Given the description of an element on the screen output the (x, y) to click on. 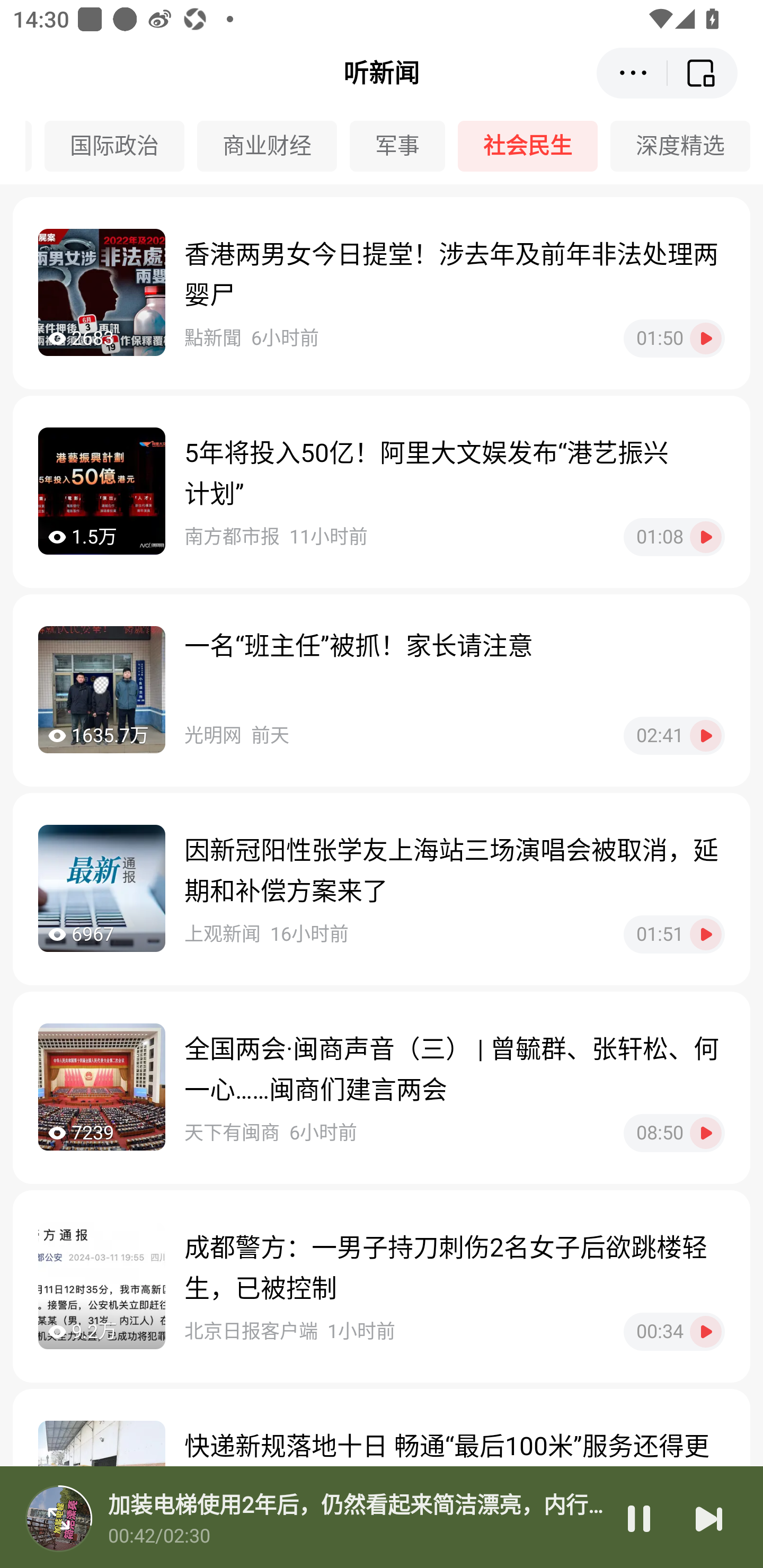
更多 (631, 72)
返回 (702, 72)
国际政治 (120, 146)
商业财经 (272, 146)
军事 (403, 146)
社会民生 (533, 146)
深度精选 (686, 146)
2683 香港两男女今日提堂！涉去年及前年非法处理两婴尸 點新聞6小时前 01:50 (381, 292)
01:50 (673, 338)
1.5万 5年将投入50亿！阿里大文娱发布“港艺振兴
计划” 南方都市报11小时前 01:08 (381, 491)
01:08 (673, 536)
1635.7万 一名“班主任”被抓！家长请注意 光明网前天 02:41 (381, 690)
02:41 (673, 735)
6967 因新冠阳性张学友上海站三场演唱会被取消，延期和补偿方案来了 上观新闻16小时前 01:51 (381, 888)
01:51 (673, 934)
08:50 (673, 1132)
9.2万 成都警方：一男子持刀刺伤2名女子后欲跳楼轻生，已被控制 北京日报客户端1小时前 00:34 (381, 1286)
00:34 (673, 1331)
2.7万 快递新规落地十日 畅通“最后100米”服务还得更精细 中国网科技12小时前 04:49 (381, 1478)
暂停 (638, 1518)
下一篇 (708, 1518)
